Given the description of an element on the screen output the (x, y) to click on. 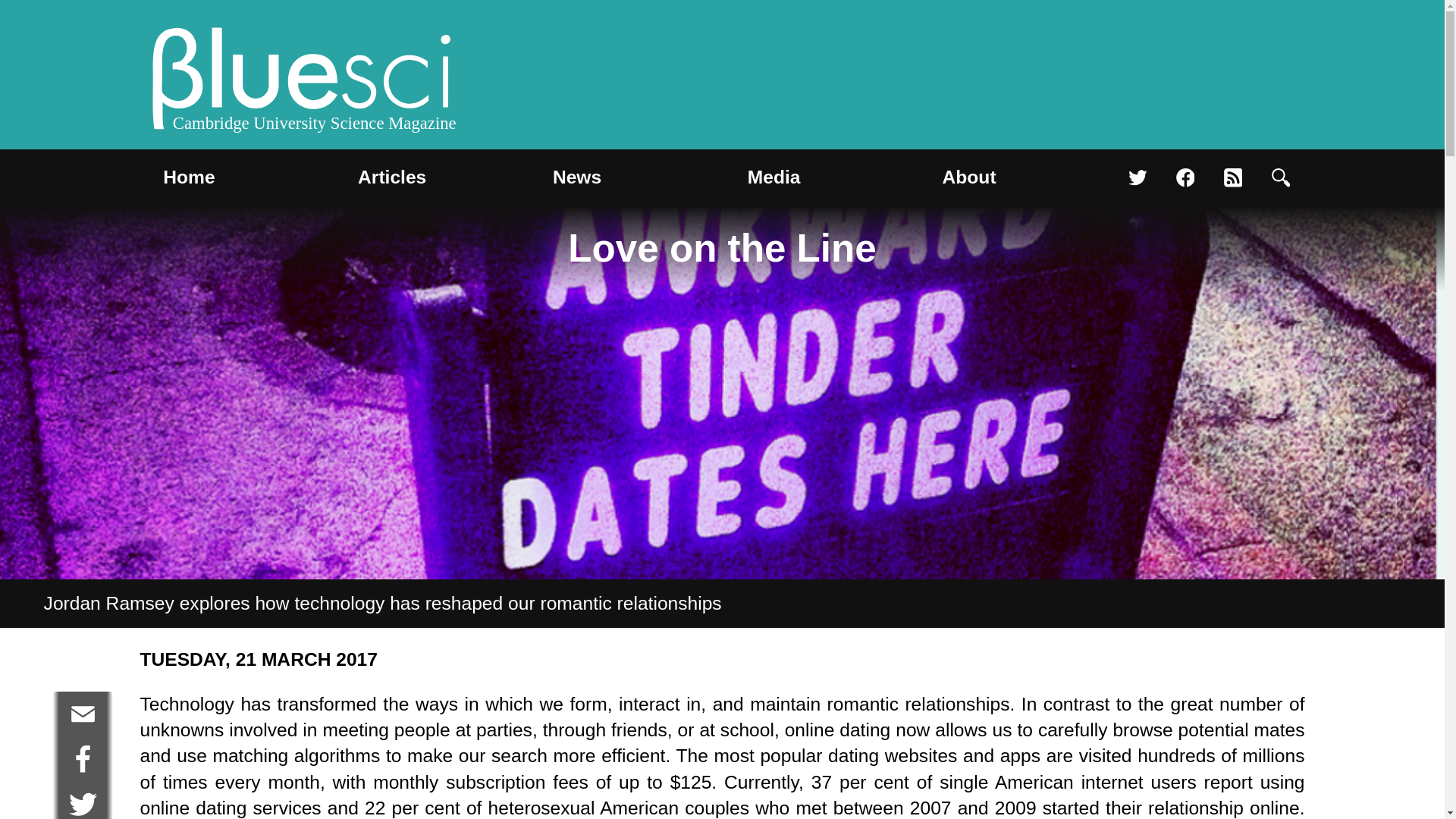
Home (188, 177)
News (576, 177)
Articles (391, 177)
Cambridge University Science Magazine (301, 82)
Cambridge University Science Magazine (301, 82)
About (969, 177)
